Given the description of an element on the screen output the (x, y) to click on. 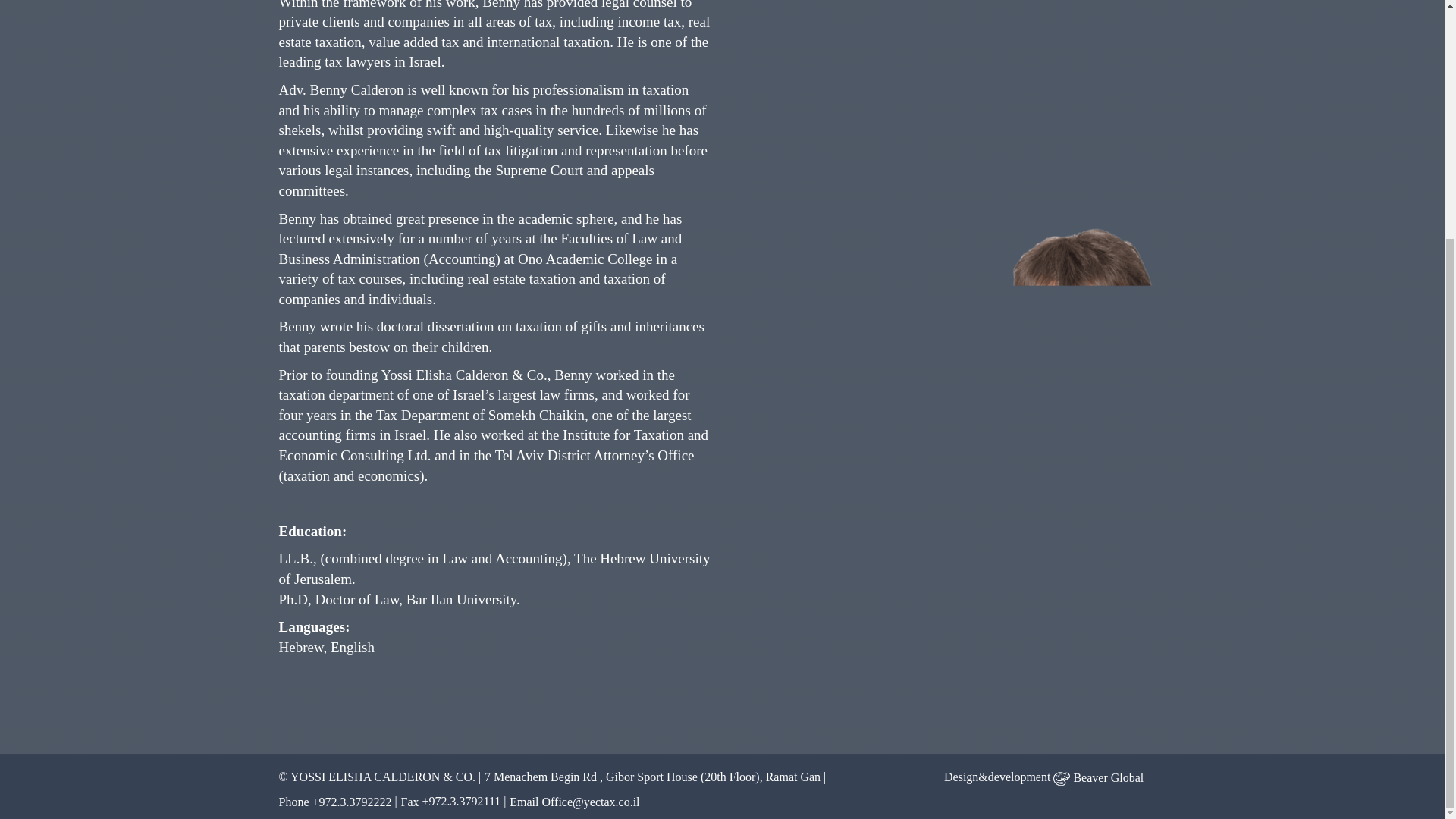
Beaver Global (1097, 777)
